Given the description of an element on the screen output the (x, y) to click on. 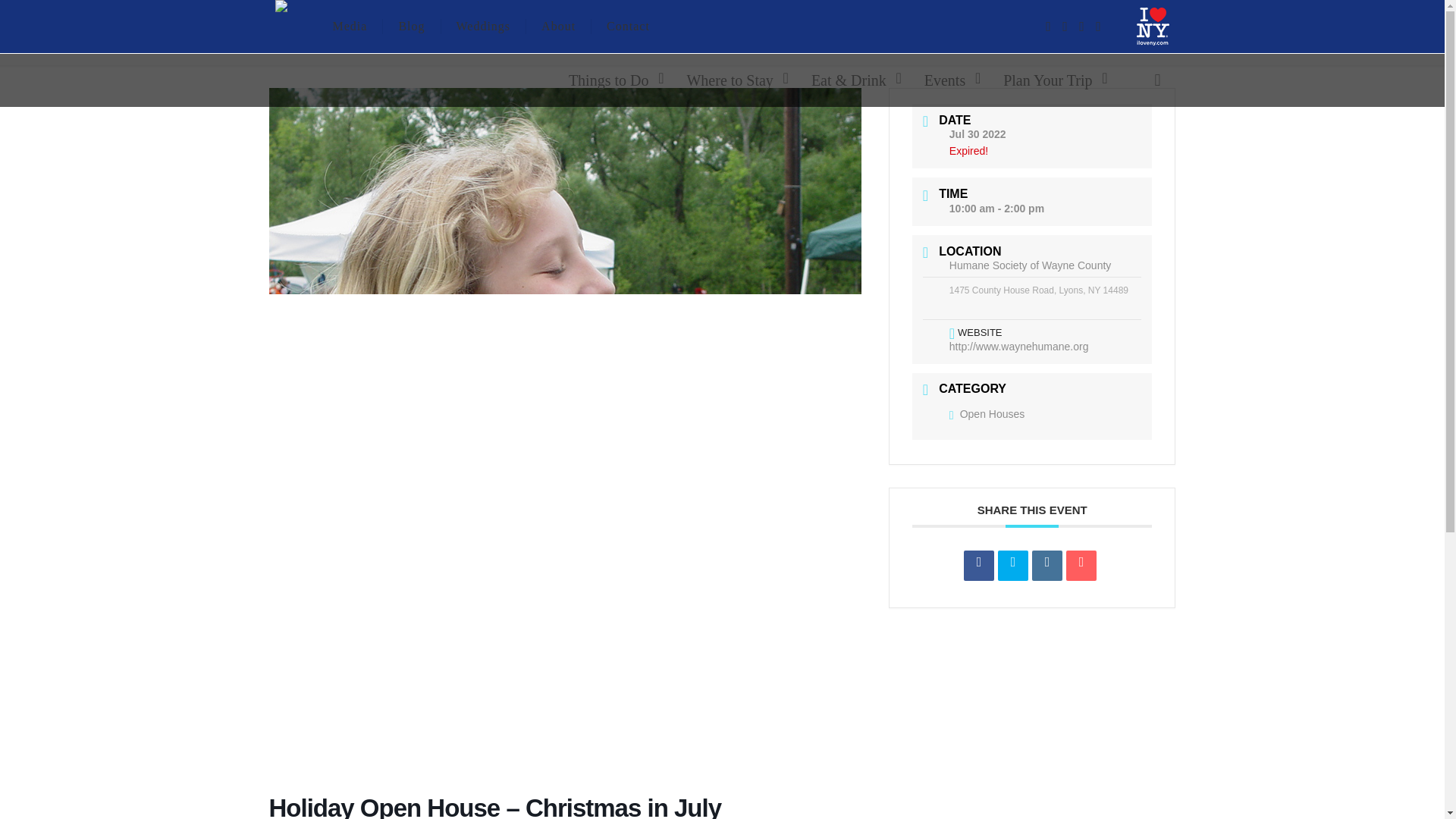
About (558, 26)
Things to Do (612, 80)
Where to Stay (732, 80)
Share on Facebook (978, 565)
Weddings (484, 26)
Blog (411, 26)
Media (349, 26)
Email (1080, 565)
Tweet (1012, 565)
Linkedin (1047, 565)
